Given the description of an element on the screen output the (x, y) to click on. 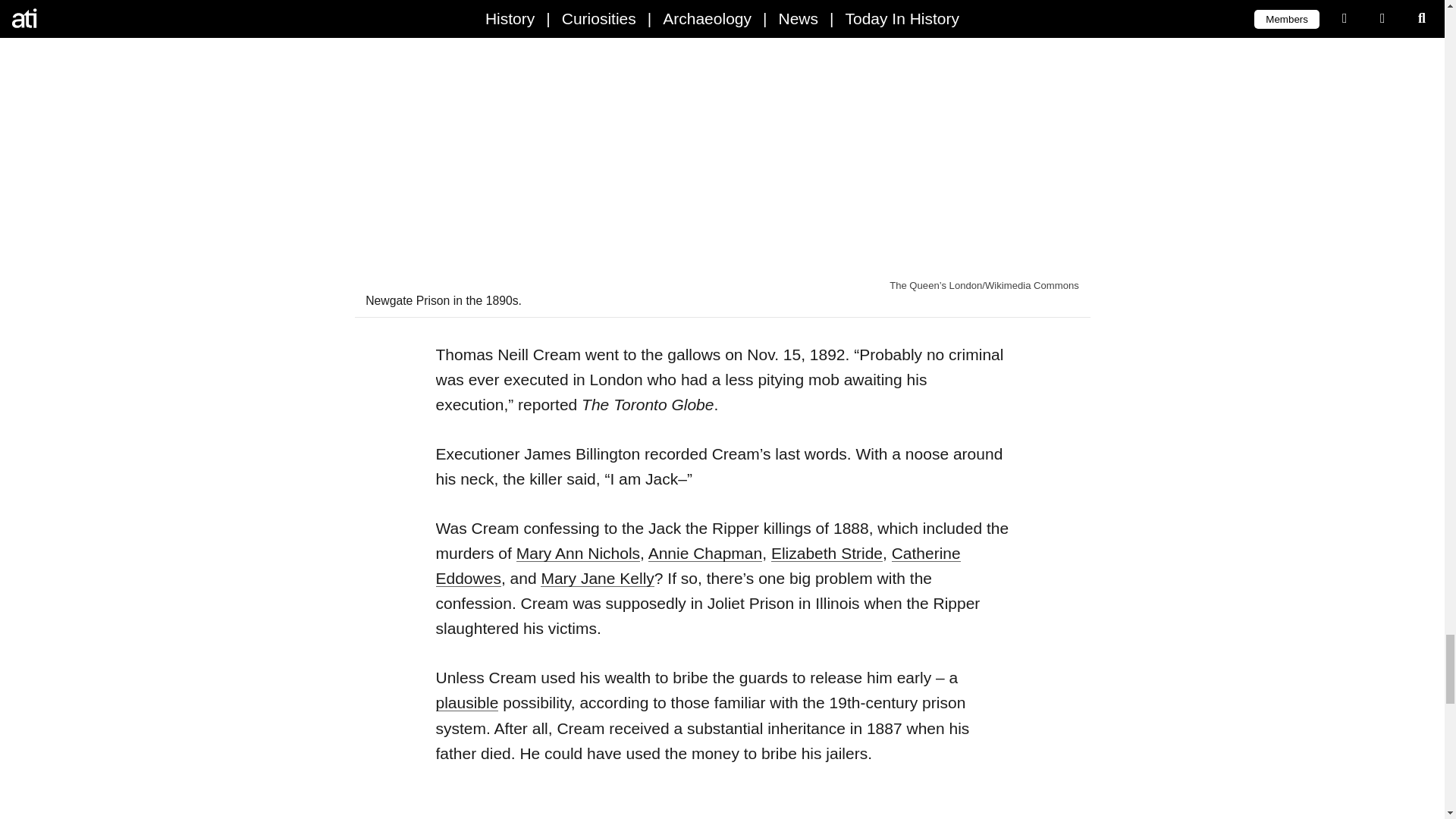
Mary Ann Nichols (578, 552)
Mary Jane Kelly (596, 578)
plausible (466, 702)
Annie Chapman (704, 552)
Catherine Eddowes (697, 565)
Elizabeth Stride (826, 552)
